Given the description of an element on the screen output the (x, y) to click on. 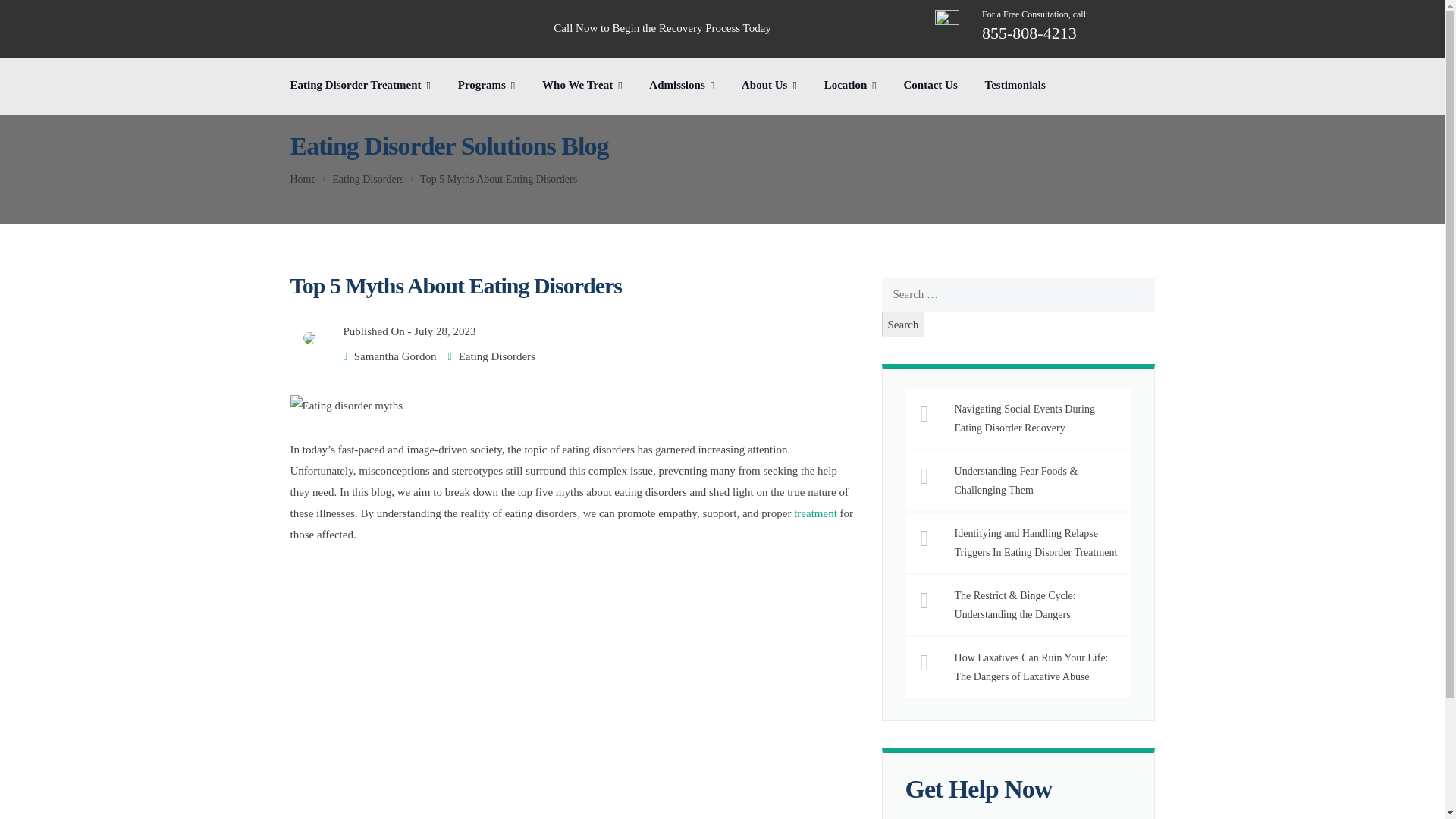
Who We Treat (582, 88)
Search (903, 324)
Search (903, 324)
Eating Disorder Treatment (1017, 25)
Programs (359, 88)
